Given the description of an element on the screen output the (x, y) to click on. 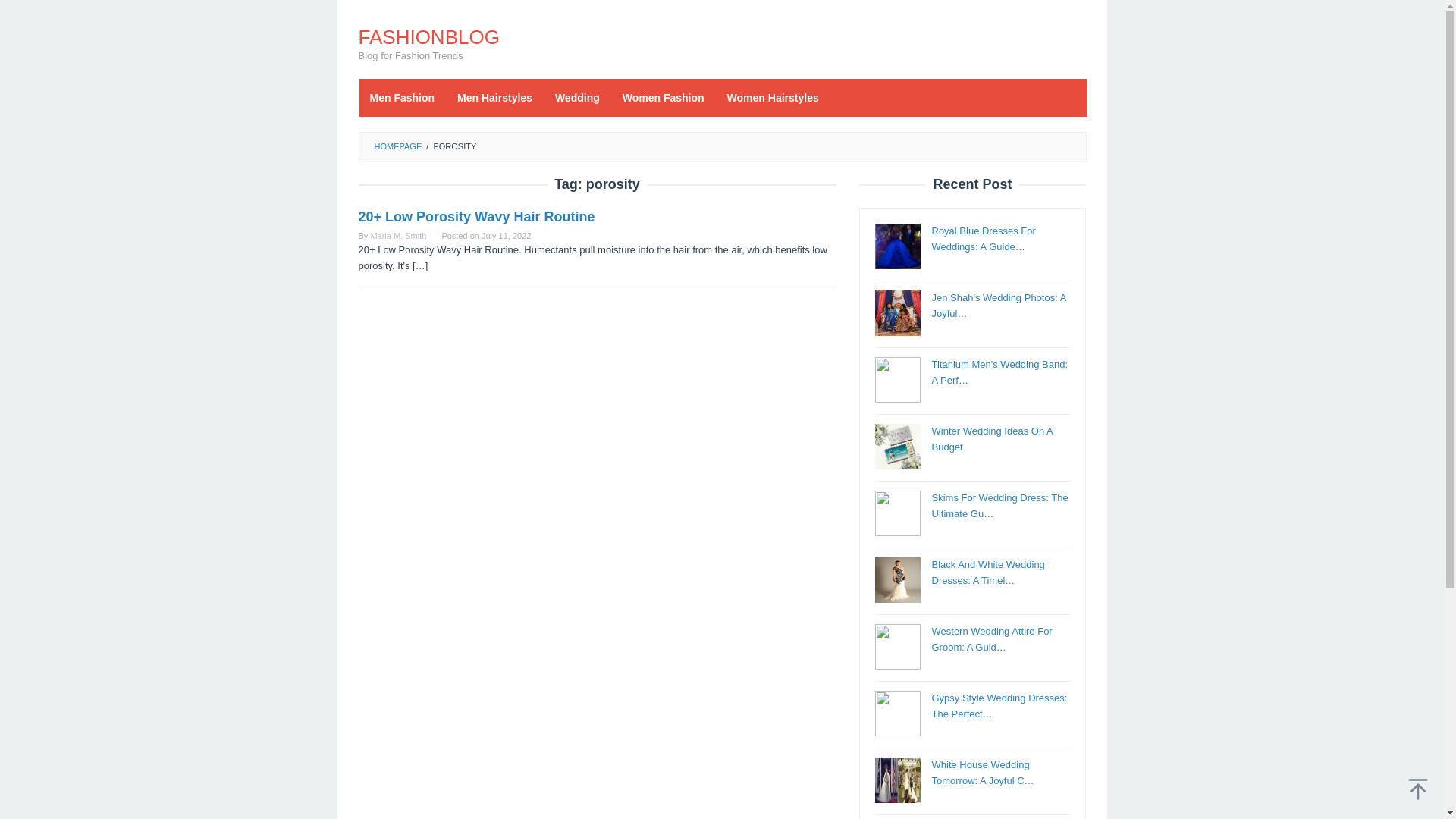
Wedding (577, 97)
Permalink to: Winter Wedding Ideas On A Budget (991, 438)
Winter Wedding Ideas On A Budget (991, 438)
Women Fashion (663, 97)
Women Hairstyles (772, 97)
Permalink to: Skims For Wedding Dress: The Ultimate Guide (999, 505)
Men Hairstyles (494, 97)
FASHIONBLOG (428, 36)
Men Fashion (401, 97)
Permalink to: Maria M. Smith (397, 235)
FASHIONBLOG (428, 36)
